Given the description of an element on the screen output the (x, y) to click on. 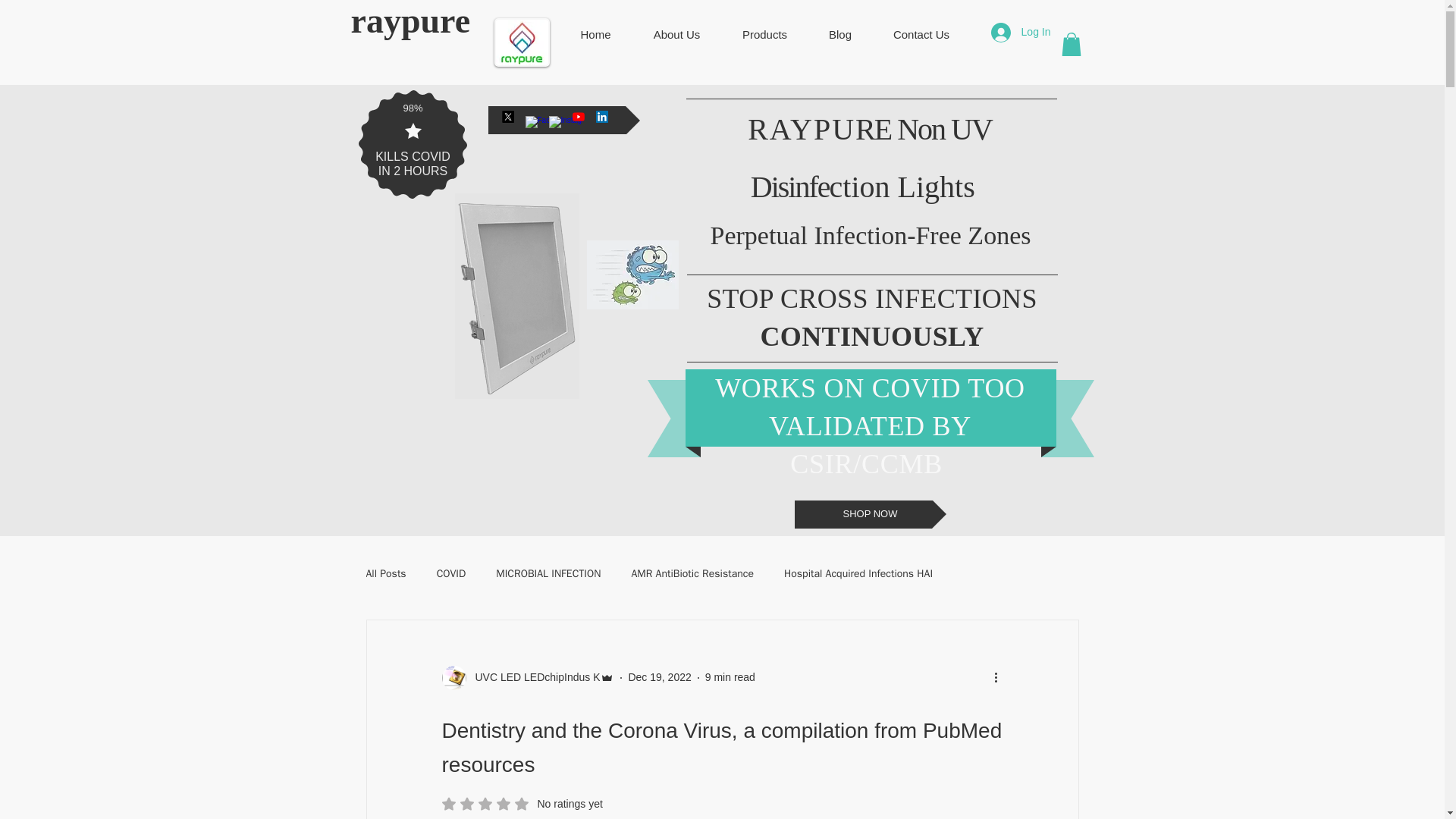
AMR AntiBiotic Resistance (692, 573)
Blog (840, 34)
virus running.jpeg (632, 274)
Home (595, 34)
SHOP NOW (870, 514)
9 min read (729, 676)
UVC LED LEDchipIndus K (527, 677)
raypure (410, 20)
MICROBIAL INFECTION (547, 573)
All Posts (385, 573)
Products (765, 34)
UVC LED LEDchipIndus K (532, 677)
Hospital Acquired Infections HAI (858, 573)
Log In (1020, 32)
Dec 19, 2022 (658, 676)
